Given the description of an element on the screen output the (x, y) to click on. 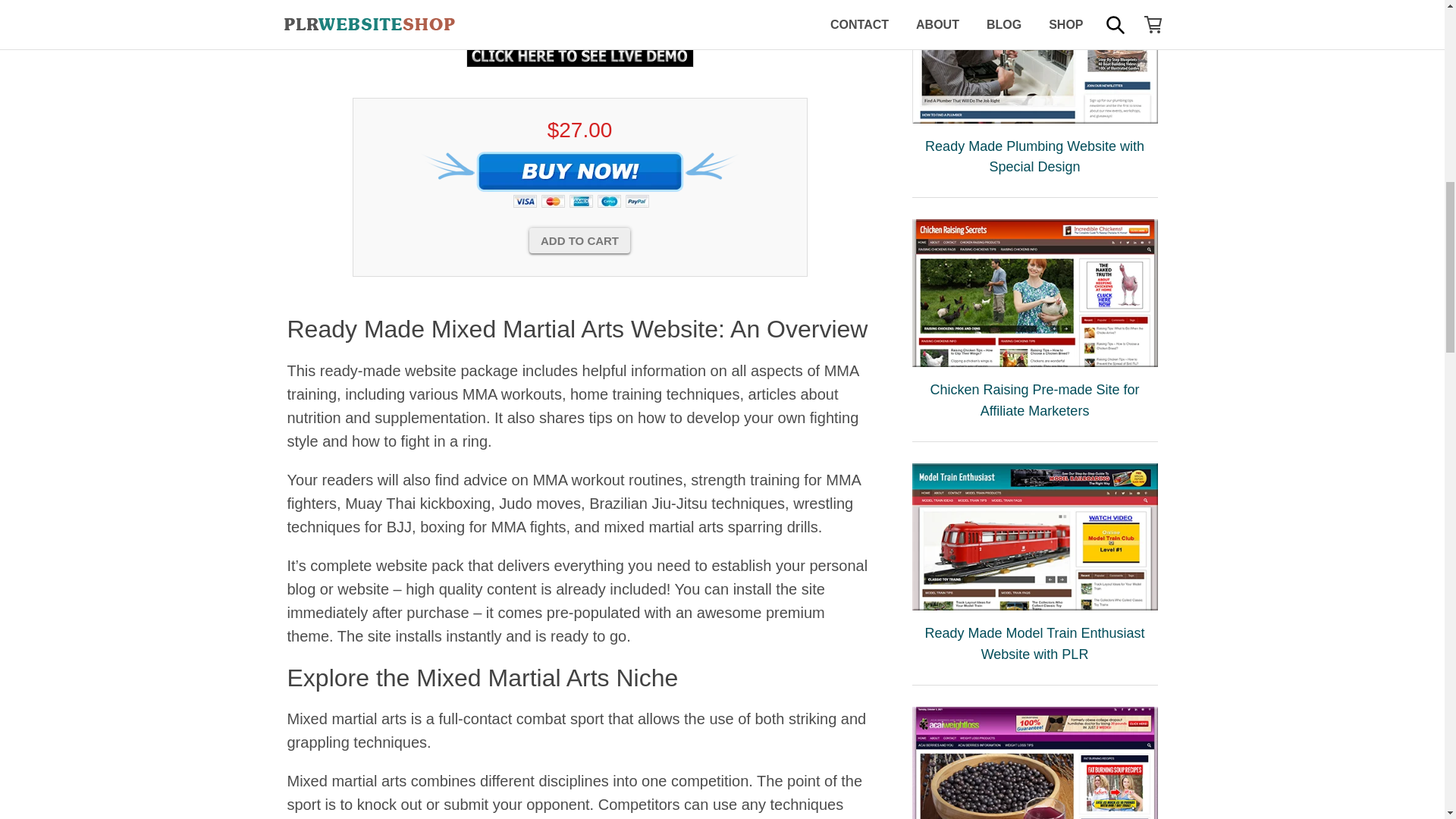
Ready Made Mixed Martial Arts Website Complete with Content (580, 15)
Ready Made Plumbing Website with Special Design (1034, 61)
Blog Demo (579, 55)
Chicken Raising Pre-made Site for Affiliate Marketers (1034, 292)
Add to Cart (579, 240)
Add to Cart (579, 240)
Ready Made Model Train Enthusiast Website with PLR (1034, 536)
